Given the description of an element on the screen output the (x, y) to click on. 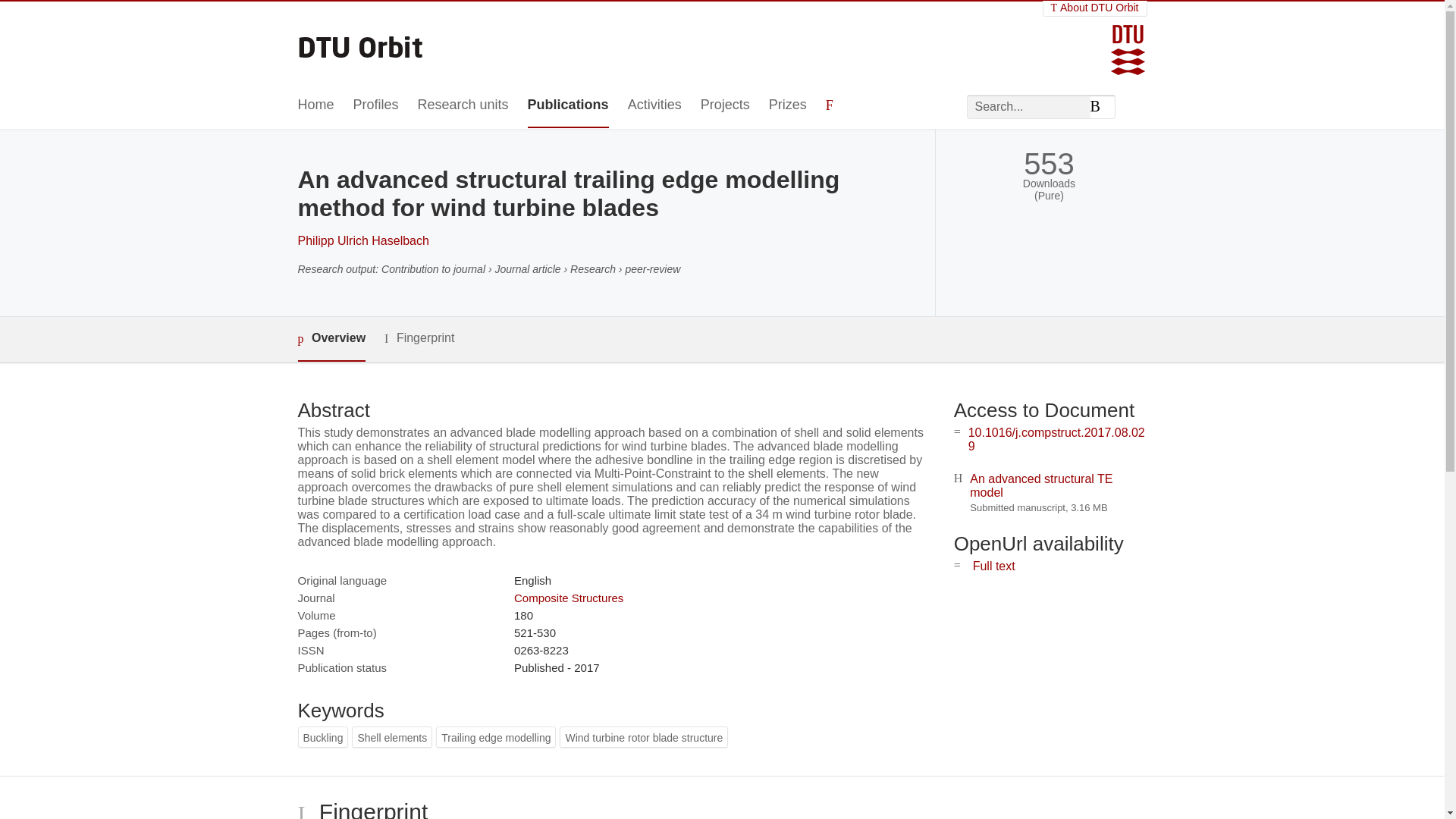
Welcome to DTU Research Database Home (361, 41)
About DTU Orbit (1095, 7)
Fingerprint (419, 338)
Full text (993, 565)
Research units (462, 105)
Philipp Ulrich Haselbach (362, 240)
Composite Structures (568, 597)
An advanced structural TE model (1040, 485)
Overview (331, 338)
